Given the description of an element on the screen output the (x, y) to click on. 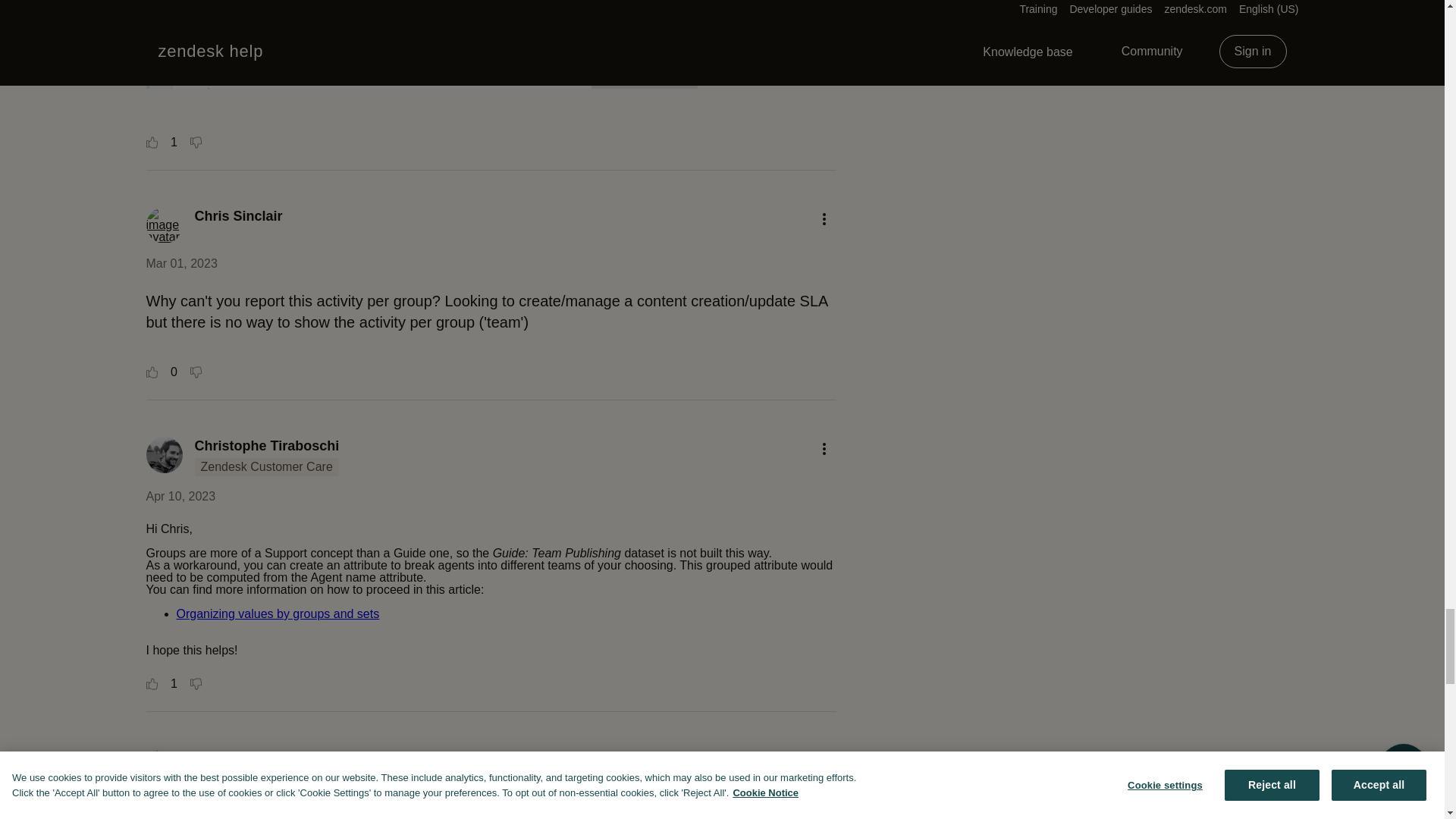
Mar 01, 2023 (180, 263)
Feb 21, 2024 (180, 804)
Apr 10, 2023 (180, 495)
